Given the description of an element on the screen output the (x, y) to click on. 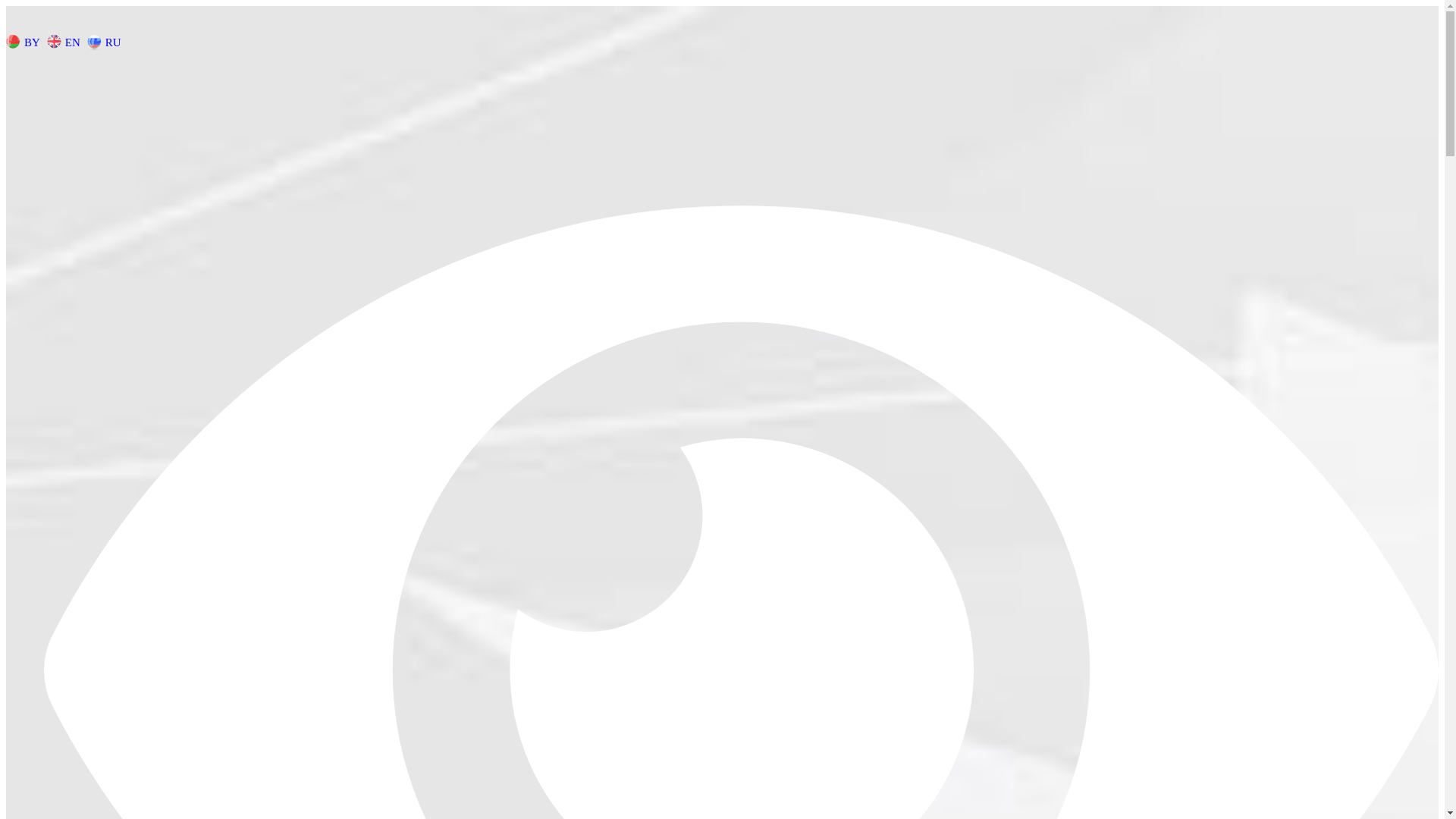
RU Element type: text (106, 40)
EN Element type: text (65, 40)
BY Element type: text (24, 40)
